Given the description of an element on the screen output the (x, y) to click on. 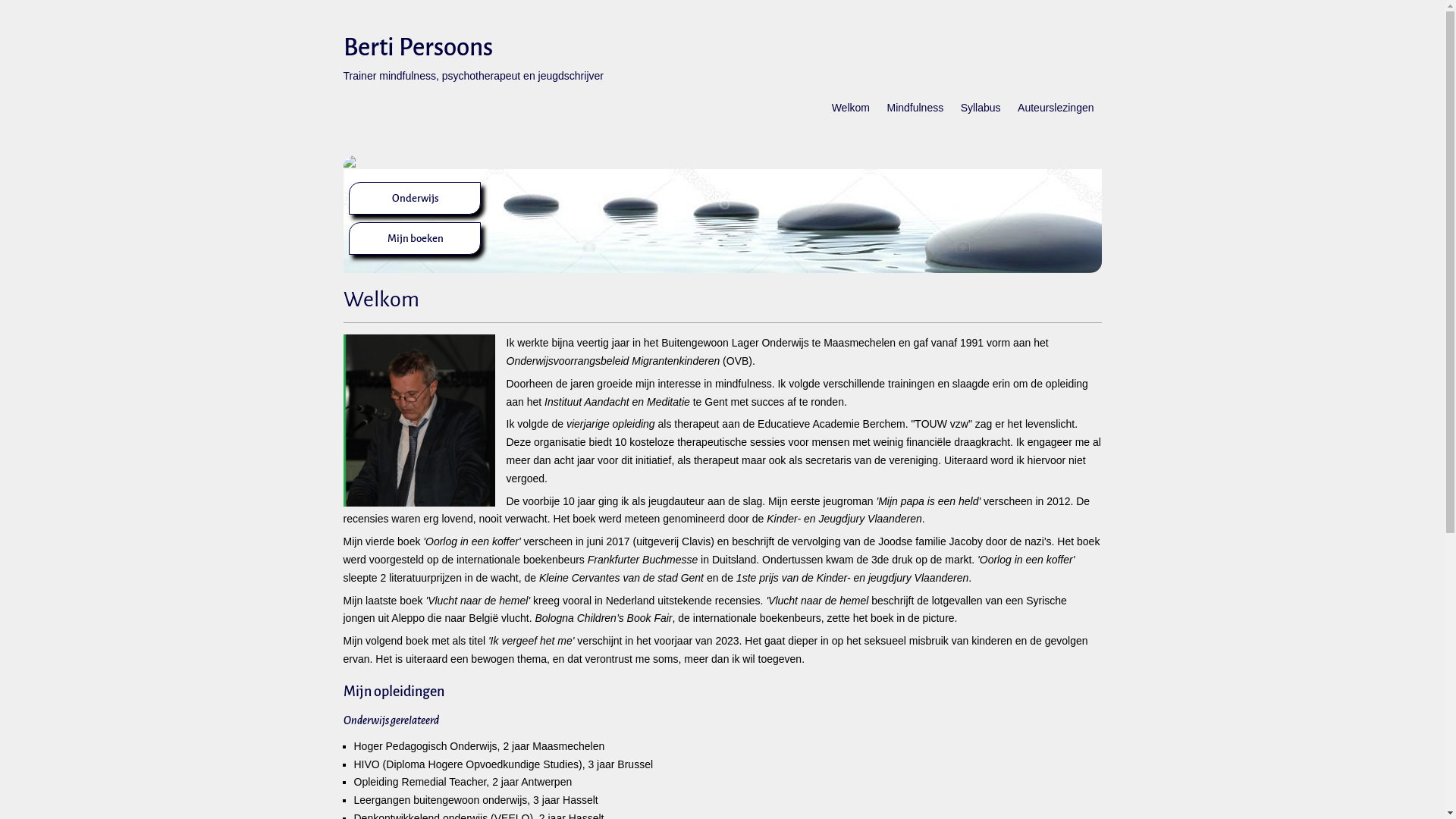
Onderwijs Element type: text (414, 197)
Mindfulness Element type: text (914, 115)
Syllabus Element type: text (980, 115)
Auteurslezingen Element type: text (1055, 115)
Welkom Element type: text (850, 115)
Mijn boeken Element type: text (414, 238)
